Given the description of an element on the screen output the (x, y) to click on. 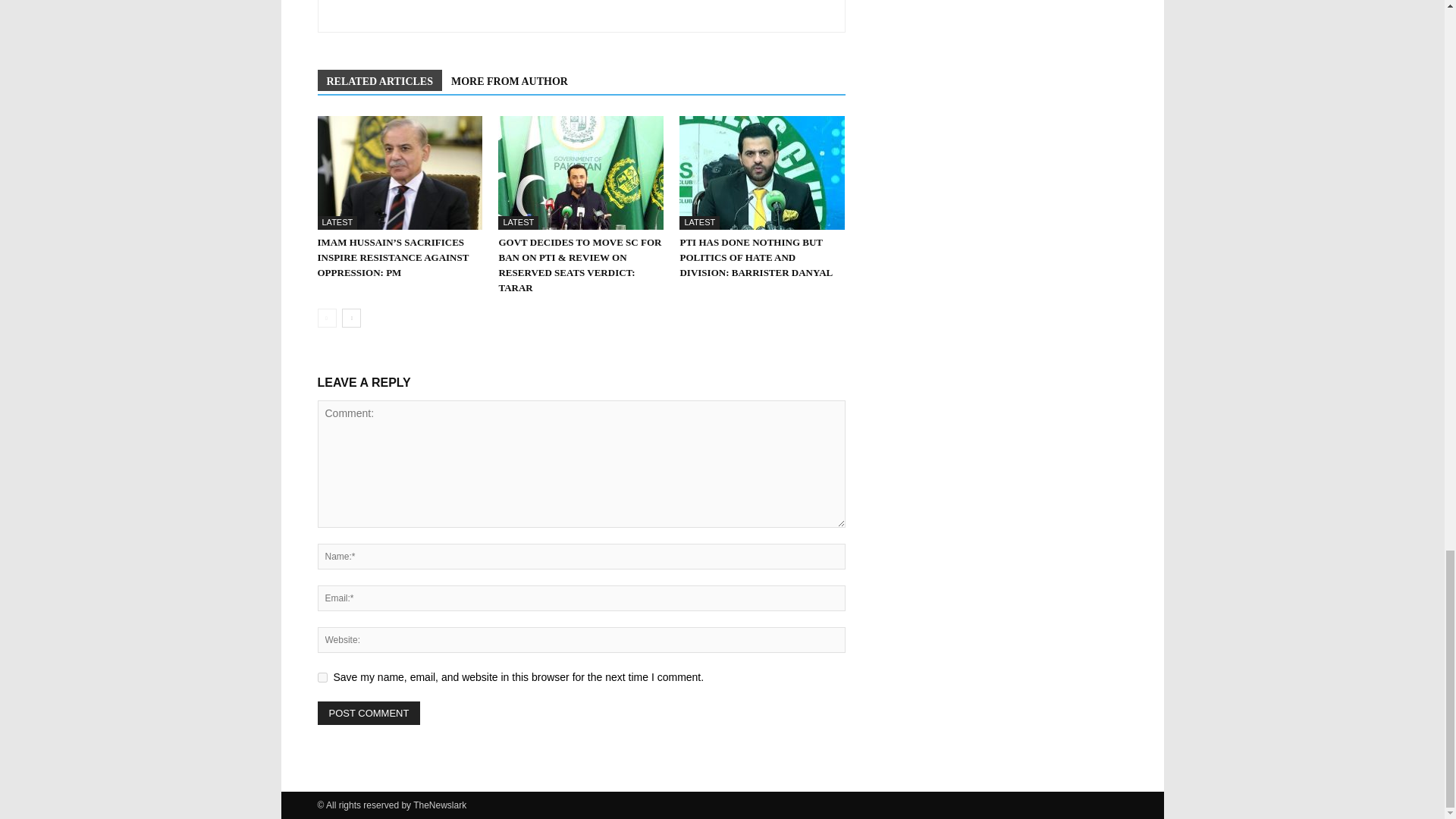
yes (321, 677)
Post Comment (368, 712)
